Given the description of an element on the screen output the (x, y) to click on. 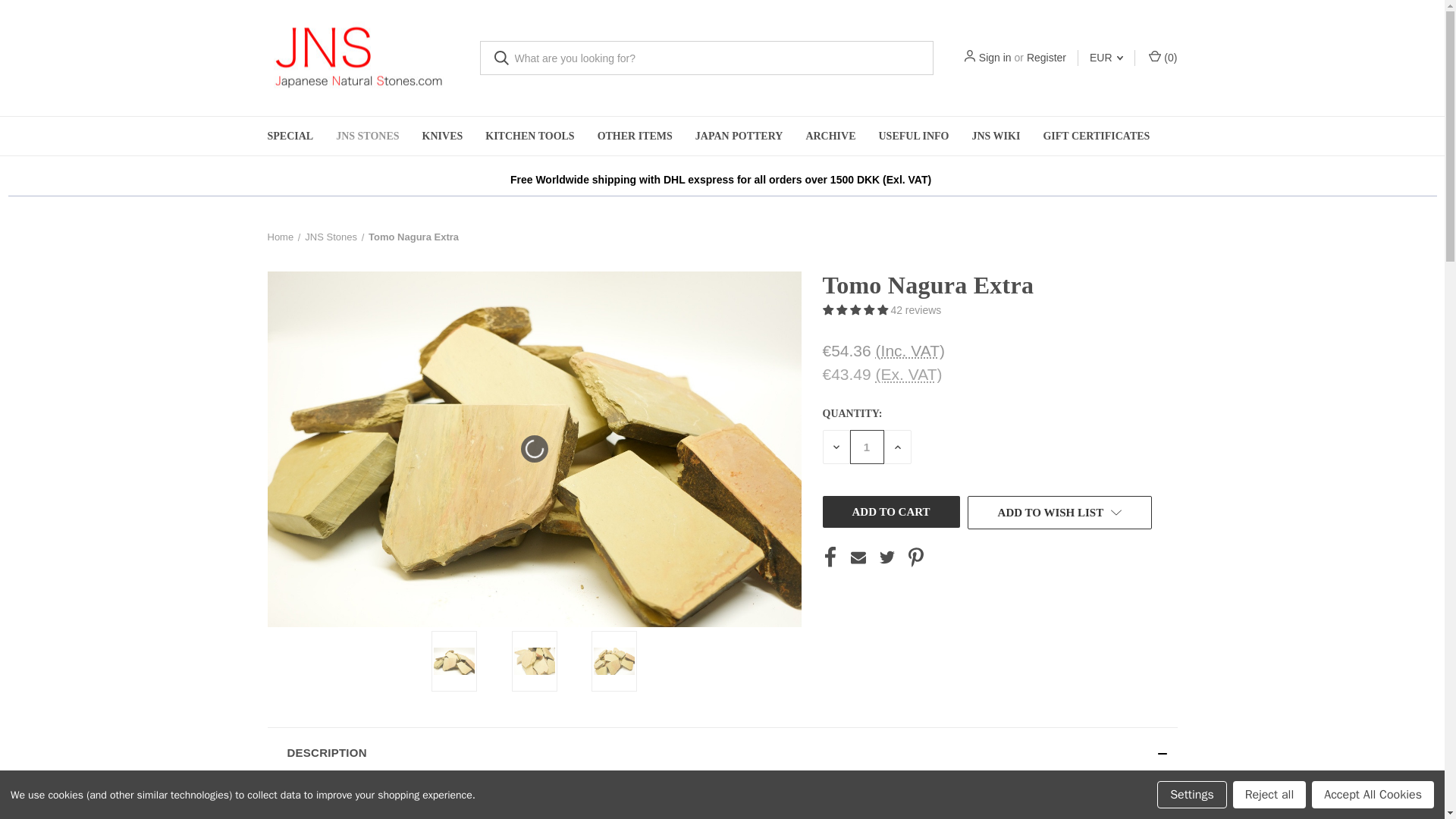
Register (1045, 57)
Including Tax (910, 350)
Excluding Tax (909, 374)
Sign in (994, 57)
SPECIAL (290, 136)
JNS STONES (367, 136)
Japanese Natural Stones (361, 57)
Add to Cart (890, 511)
1 (865, 446)
EUR (1106, 57)
